Given the description of an element on the screen output the (x, y) to click on. 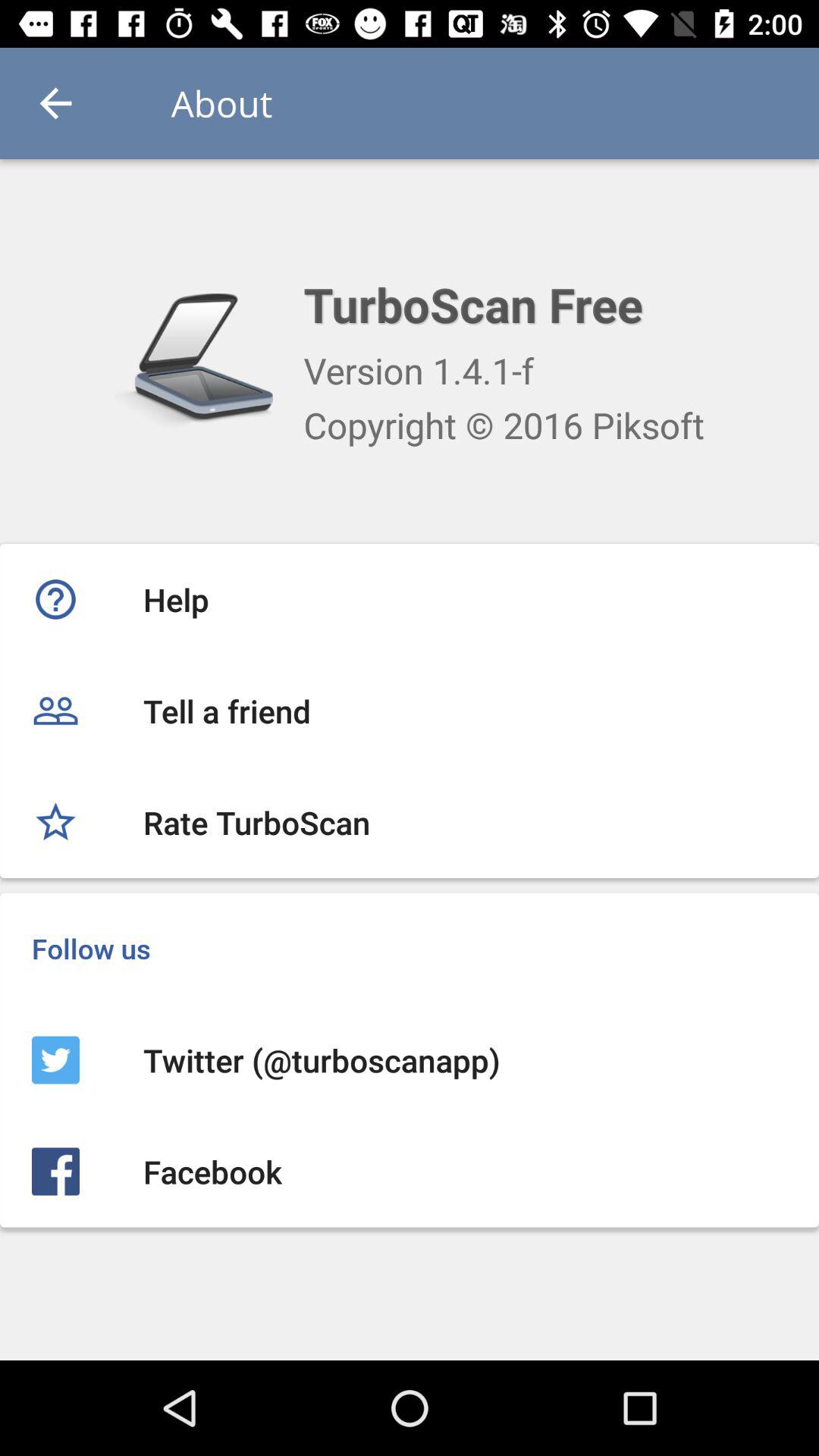
jump to help icon (409, 599)
